Given the description of an element on the screen output the (x, y) to click on. 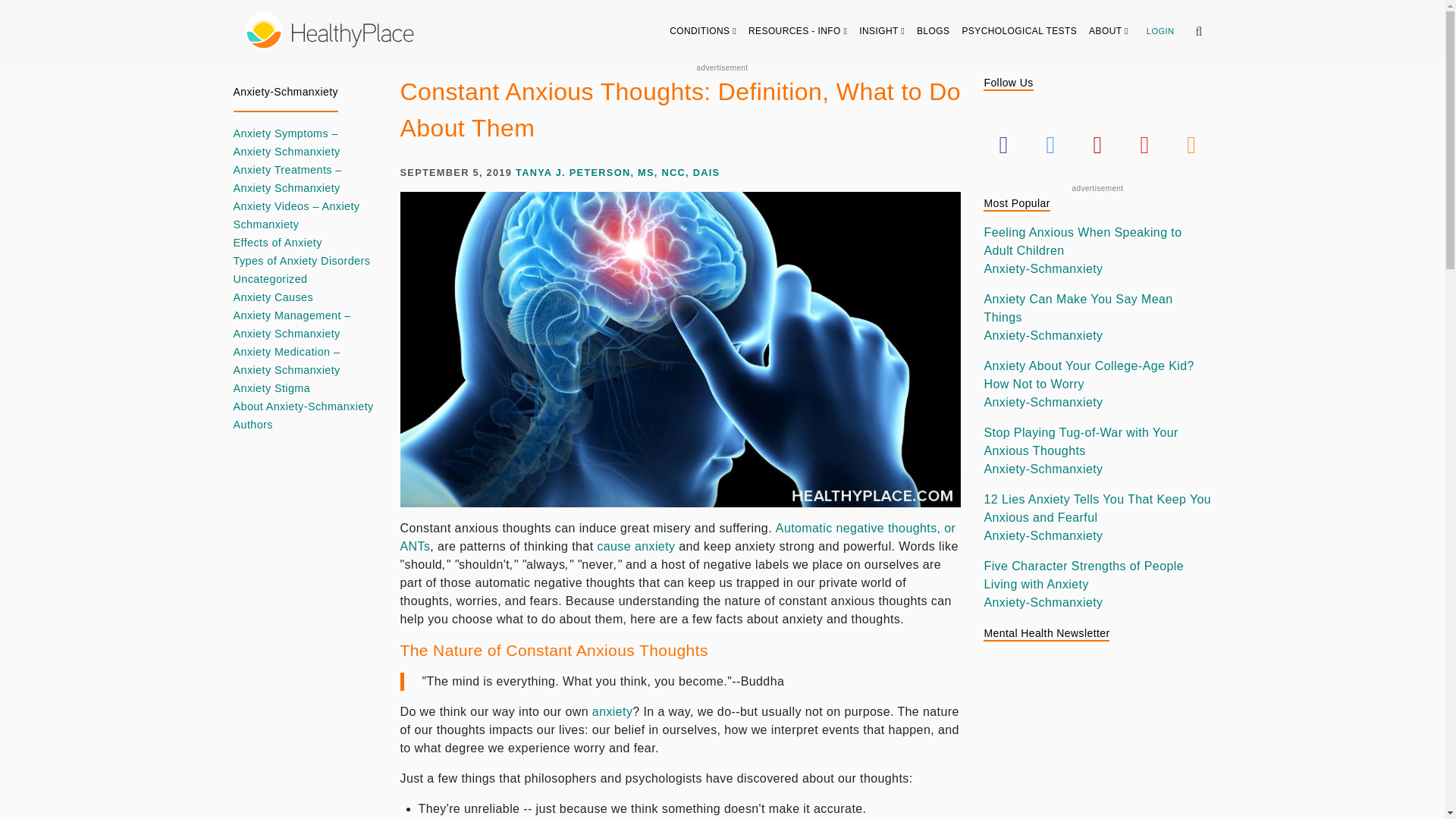
Anxiety Causes: What Causes Anxiety? (635, 545)
RESOURCES - INFO (797, 31)
CONDITIONS (702, 31)
What Is Anxiety? Anxiety Definition (612, 711)
Anxiety and Negative Thoughts: How to Get Rid of Them (678, 536)
INSIGHT (882, 31)
